Given the description of an element on the screen output the (x, y) to click on. 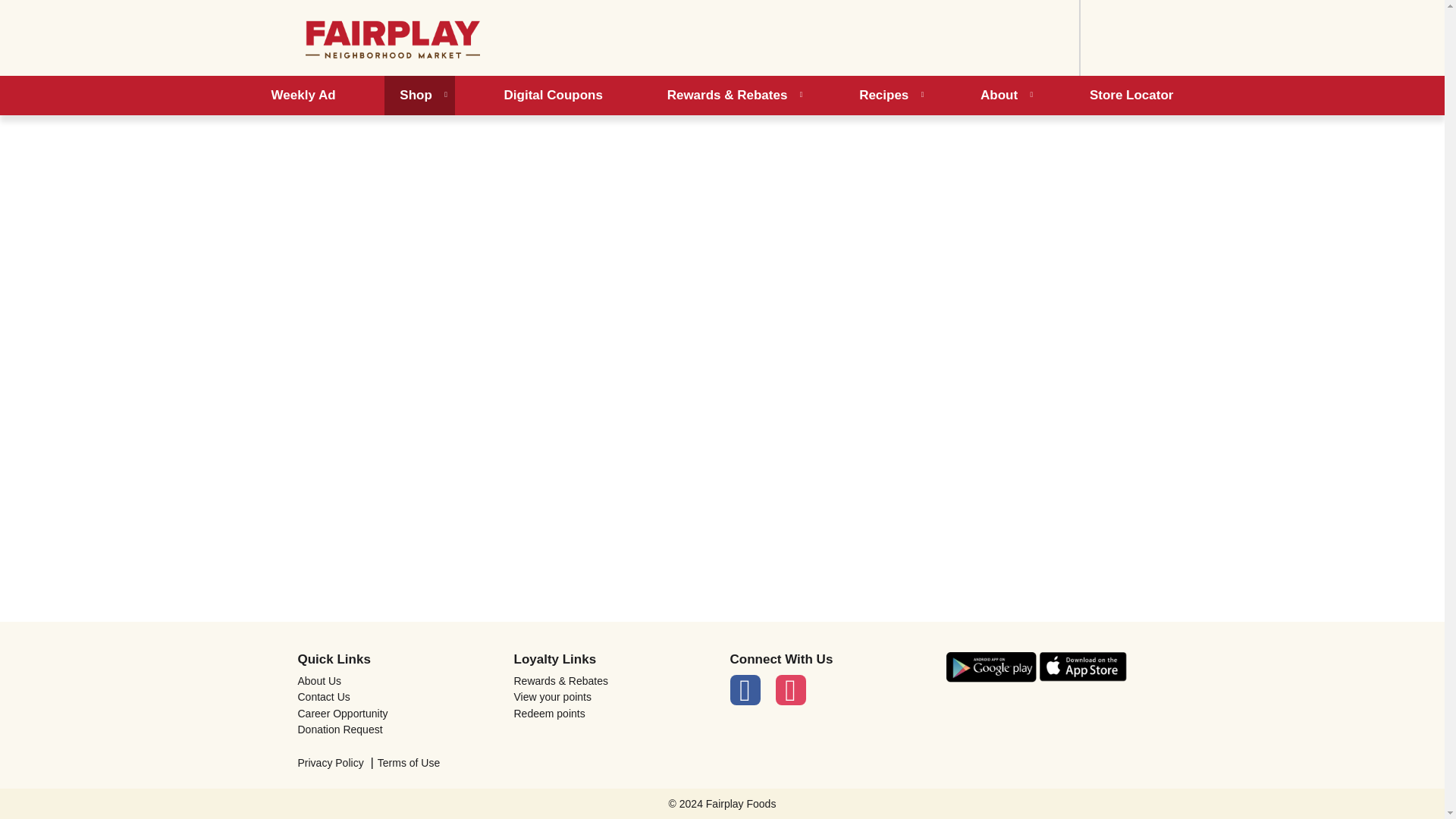
instagram (789, 689)
Shop (419, 95)
Facebook (744, 689)
About (1003, 95)
Store Locator (1131, 95)
Donation Request (397, 729)
Digital Coupons (553, 95)
About Us (397, 680)
Weekly Ad (303, 95)
Recipes (887, 95)
Career Opportunity (397, 713)
Contact Us (397, 696)
